Given the description of an element on the screen output the (x, y) to click on. 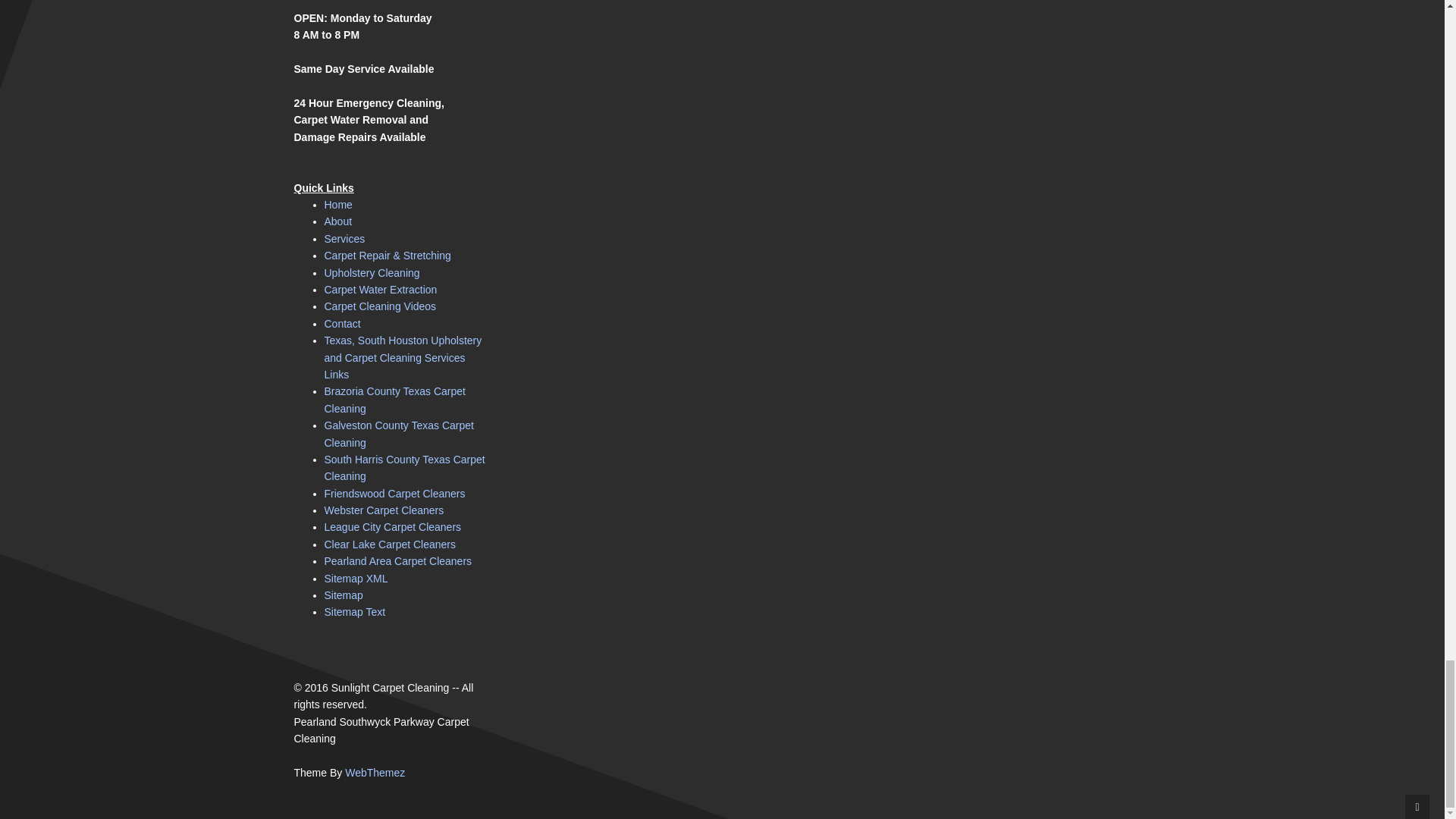
Carpet Water Extraction (381, 289)
League City Carpet Cleaners (392, 526)
Services (344, 238)
About (338, 221)
Carpet Cleaning Videos (380, 306)
Friendswood Carpet Cleaners (394, 493)
Contact (342, 323)
Upholstery Cleaning (372, 272)
Brazoria County Texas Carpet Cleaning (394, 399)
Home (338, 204)
Galveston County Texas Carpet Cleaning (399, 433)
Webster Carpet Cleaners (384, 510)
Clear Lake Carpet Cleaners (390, 544)
South Harris County Texas Carpet Cleaning (404, 467)
